Given the description of an element on the screen output the (x, y) to click on. 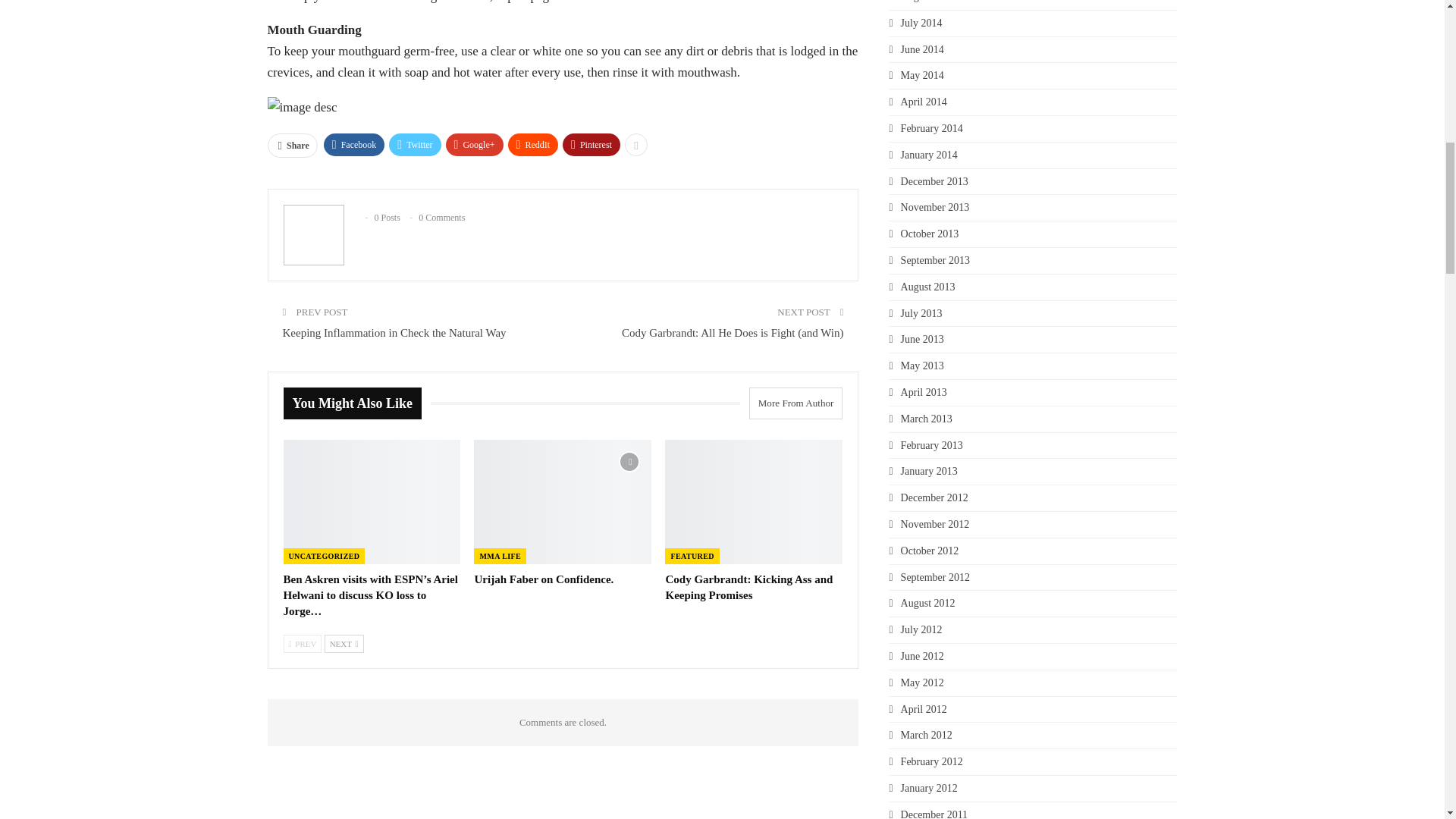
Facebook (354, 144)
ReddIt (533, 144)
Cody Garbrandt: Kicking Ass and Keeping Promises (748, 587)
You Might Also Like (356, 403)
Twitter (414, 144)
Next (344, 643)
Keeping Inflammation in Check the Natural Way (393, 332)
UNCATEGORIZED (324, 555)
Pinterest (591, 144)
More From Author (791, 403)
